Given the description of an element on the screen output the (x, y) to click on. 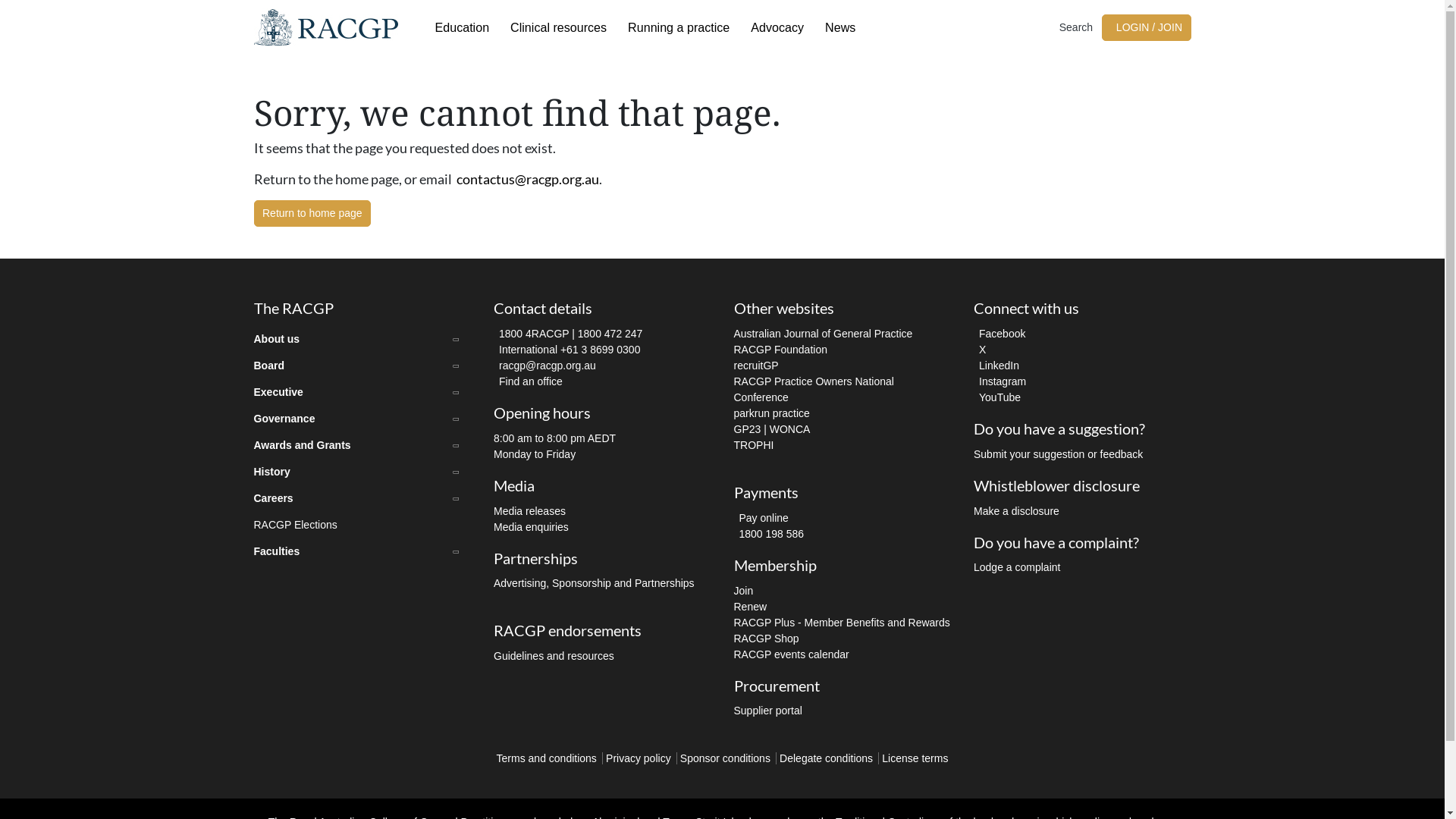
Return to home page Element type: text (311, 213)
LinkedIn Element type: text (996, 365)
History Element type: text (361, 471)
Careers Element type: text (361, 498)
GP23 | WONCA Element type: text (772, 429)
RACGP Elections Element type: text (361, 524)
Media releases Element type: text (529, 511)
Pay online Element type: text (761, 517)
1800 4RACGP | 1800 472 247 Element type: text (567, 333)
RACGP events calendar Element type: text (791, 653)
contactus@racgp.org.au Element type: text (527, 178)
Instagram Element type: text (999, 381)
Advertising, Sponsorship and Partnerships Element type: text (593, 583)
Renew Element type: text (750, 606)
  LOGIN / JOIN Element type: text (1146, 27)
Running a practice Element type: text (678, 27)
recruitGP Element type: text (756, 365)
Sponsor conditions Element type: text (725, 758)
Faculties Element type: text (361, 551)
Media enquiries Element type: text (530, 526)
Clinical resources Element type: text (558, 27)
RACGP Practice Owners National Conference Element type: text (814, 389)
Search Element type: text (1075, 27)
parkrun practice Element type: text (771, 413)
Executive Element type: text (361, 392)
RACGP Plus - Member Benefits and Rewards Element type: text (842, 621)
Education Element type: text (462, 27)
Governance Element type: text (361, 418)
RACGP Foundation Element type: text (780, 349)
Facebook Element type: text (999, 333)
News Element type: text (840, 27)
Australian Journal of General Practice Element type: text (823, 333)
Delegate conditions Element type: text (825, 758)
Supplier portal Element type: text (768, 710)
License terms Element type: text (914, 758)
Awards and Grants Element type: text (361, 445)
RACGP Shop Element type: text (766, 638)
Privacy policy Element type: text (638, 758)
International +61 3 8699 0300 Element type: text (566, 349)
Submit your suggestion or feedback Element type: text (1057, 454)
Join Element type: text (743, 589)
racgp@racgp.org.au Element type: text (544, 365)
1800 198 586 Element type: text (769, 533)
Make a disclosure Element type: text (1016, 511)
Terms and conditions Element type: text (546, 758)
YouTube Element type: text (996, 397)
Advocacy Element type: text (777, 27)
Guidelines and resources Element type: text (553, 655)
About us Element type: text (361, 339)
Board Element type: text (361, 365)
RACGP Logo Element type: hover (325, 27)
TROPHI Element type: text (754, 445)
Lodge a complaint Element type: text (1016, 567)
Find an office Element type: text (527, 381)
X Element type: text (979, 349)
